Given the description of an element on the screen output the (x, y) to click on. 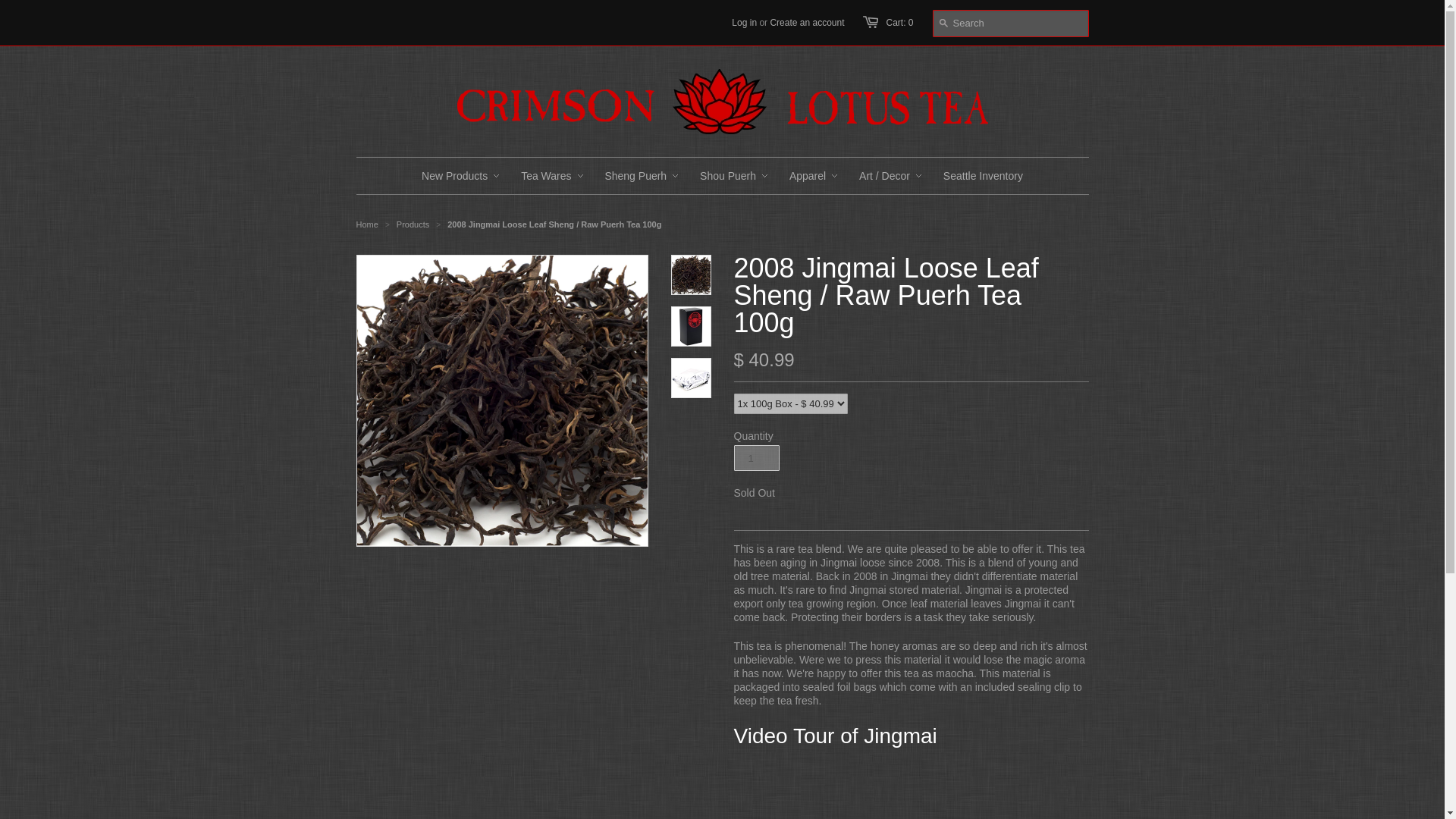
Shopping Cart (898, 22)
New Products (454, 176)
Crimson Lotus Tea (367, 224)
Log in (744, 22)
Tea Wares (545, 176)
Create an account (807, 22)
1 (755, 457)
All Products (412, 224)
Sheng Puerh (635, 176)
Cart: 0 (898, 22)
